Given the description of an element on the screen output the (x, y) to click on. 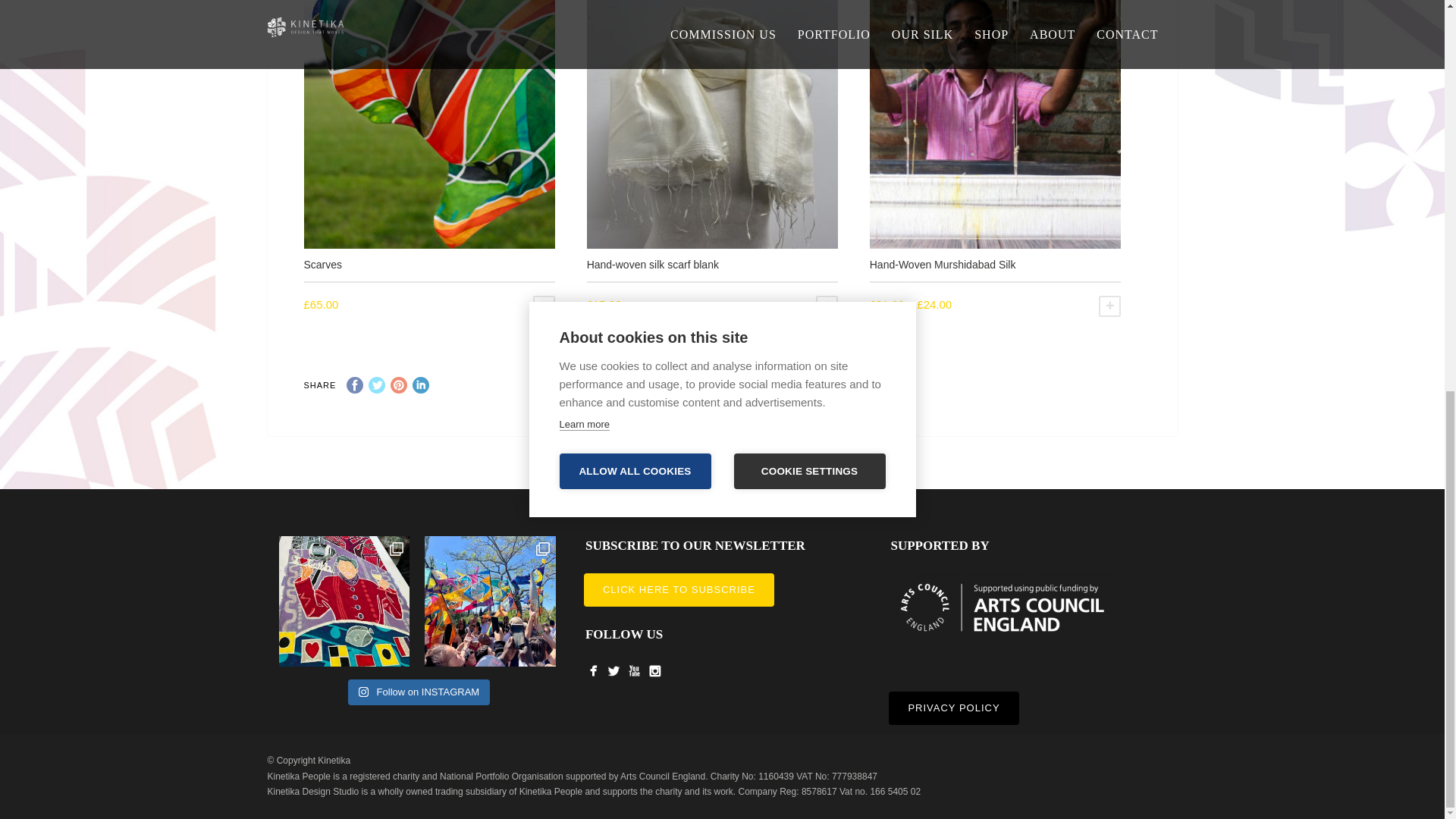
Twitter (376, 384)
Pinterest (398, 384)
Facebook (354, 384)
